Given the description of an element on the screen output the (x, y) to click on. 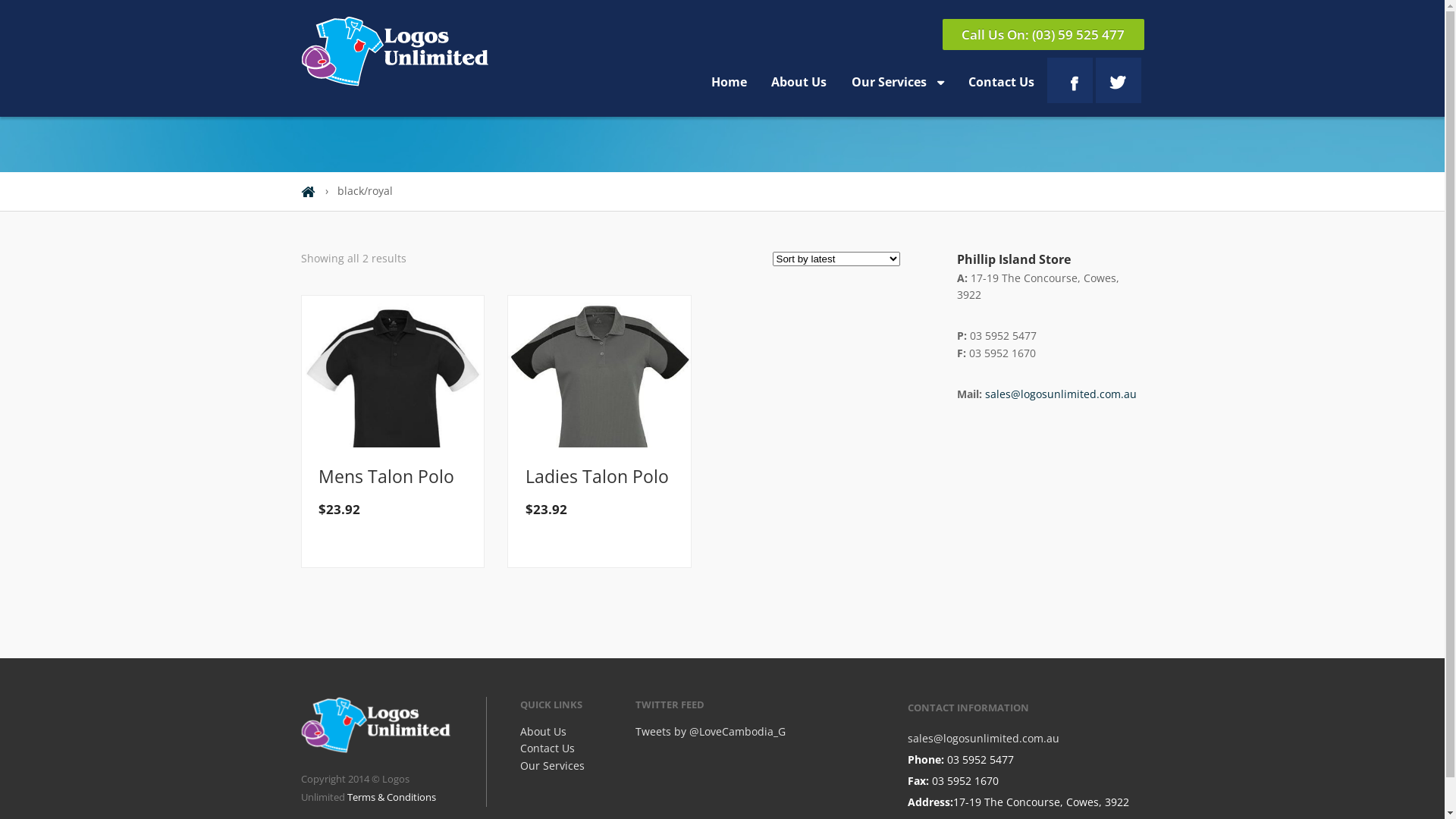
Tweets by @LoveCambodia_G Element type: text (710, 731)
About Us Element type: text (798, 81)
Ladies Talon Polo
$23.92 Element type: text (599, 492)
Facebook Element type: text (1069, 80)
Home Element type: text (307, 192)
Mens Talon Polo
$23.92 Element type: text (392, 492)
Contact Us Element type: text (1001, 81)
sales@logosunlimited.com.au Element type: text (1060, 393)
Home Element type: text (729, 81)
Terms & Conditions Element type: text (391, 796)
Our Services Element type: text (897, 83)
About Us Element type: text (543, 731)
Our Services Element type: text (552, 765)
Contact Us Element type: text (547, 747)
Printing, Embroidery, Promotional & Signage Element type: hover (395, 52)
sales@logosunlimited.com.au Element type: text (983, 738)
Twitter Element type: text (1117, 80)
